Given the description of an element on the screen output the (x, y) to click on. 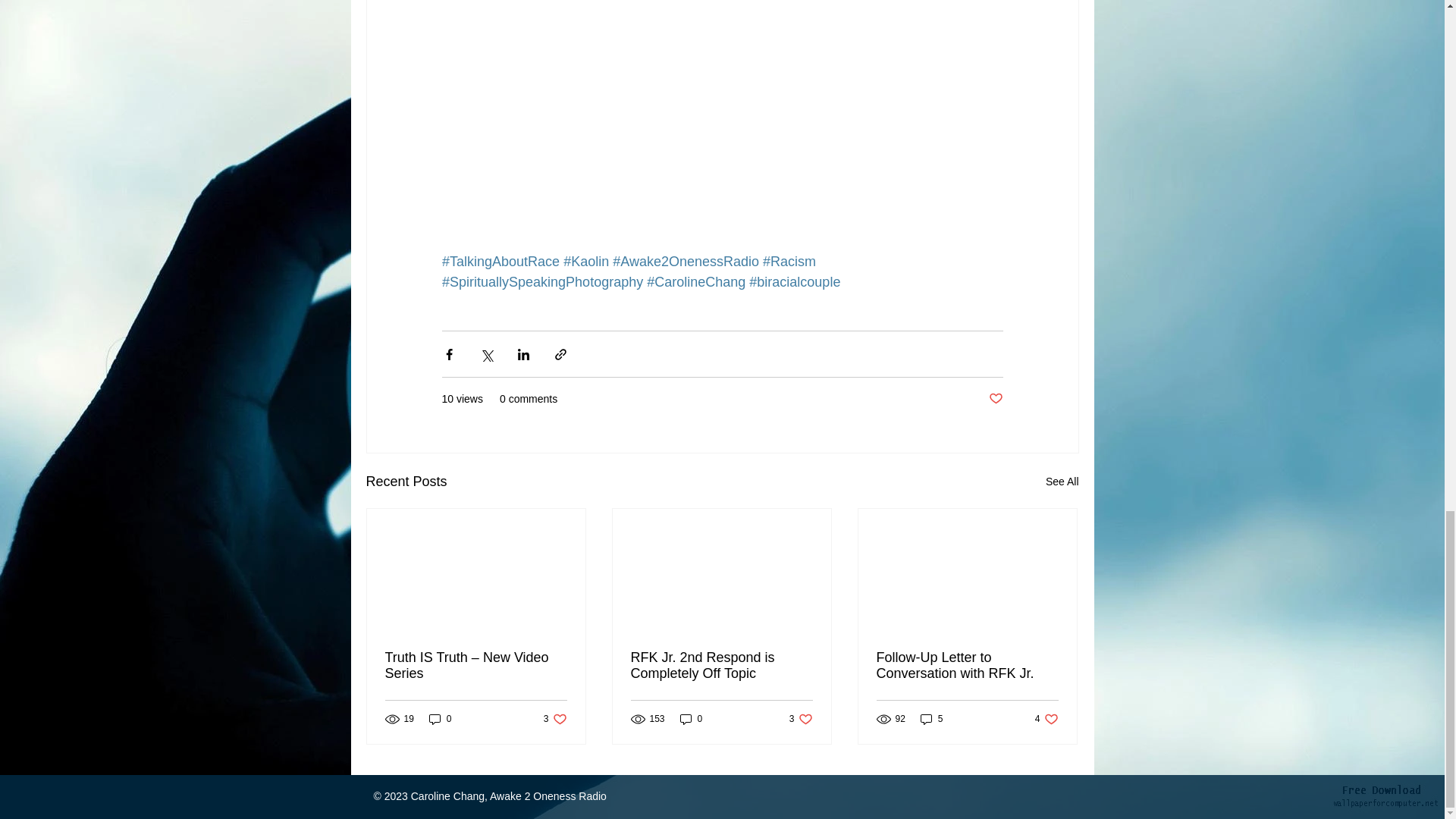
Post not marked as liked (995, 399)
See All (1061, 481)
